Given the description of an element on the screen output the (x, y) to click on. 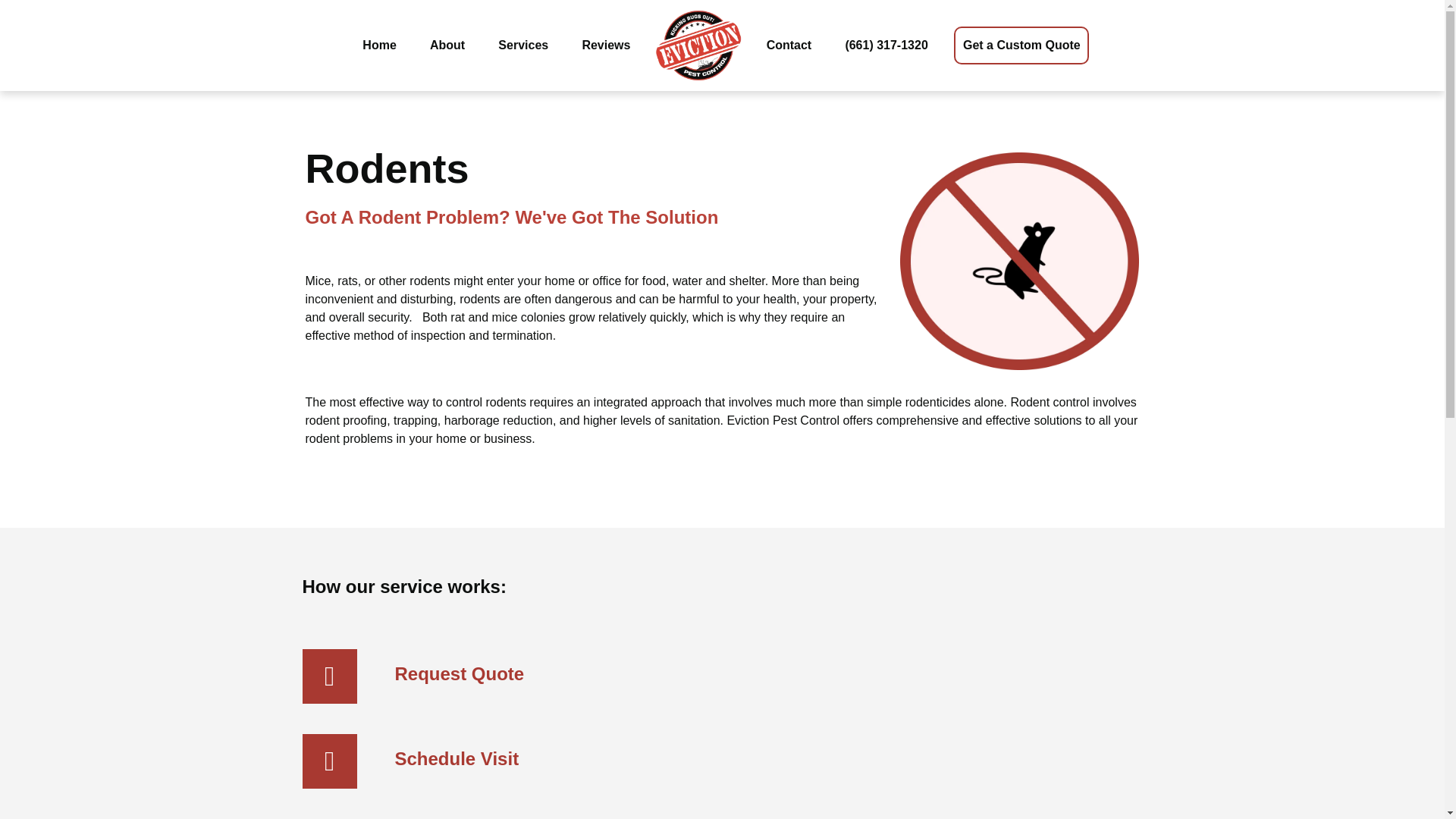
Contact (788, 9)
Get a Custom Quote (1021, 12)
